Given the description of an element on the screen output the (x, y) to click on. 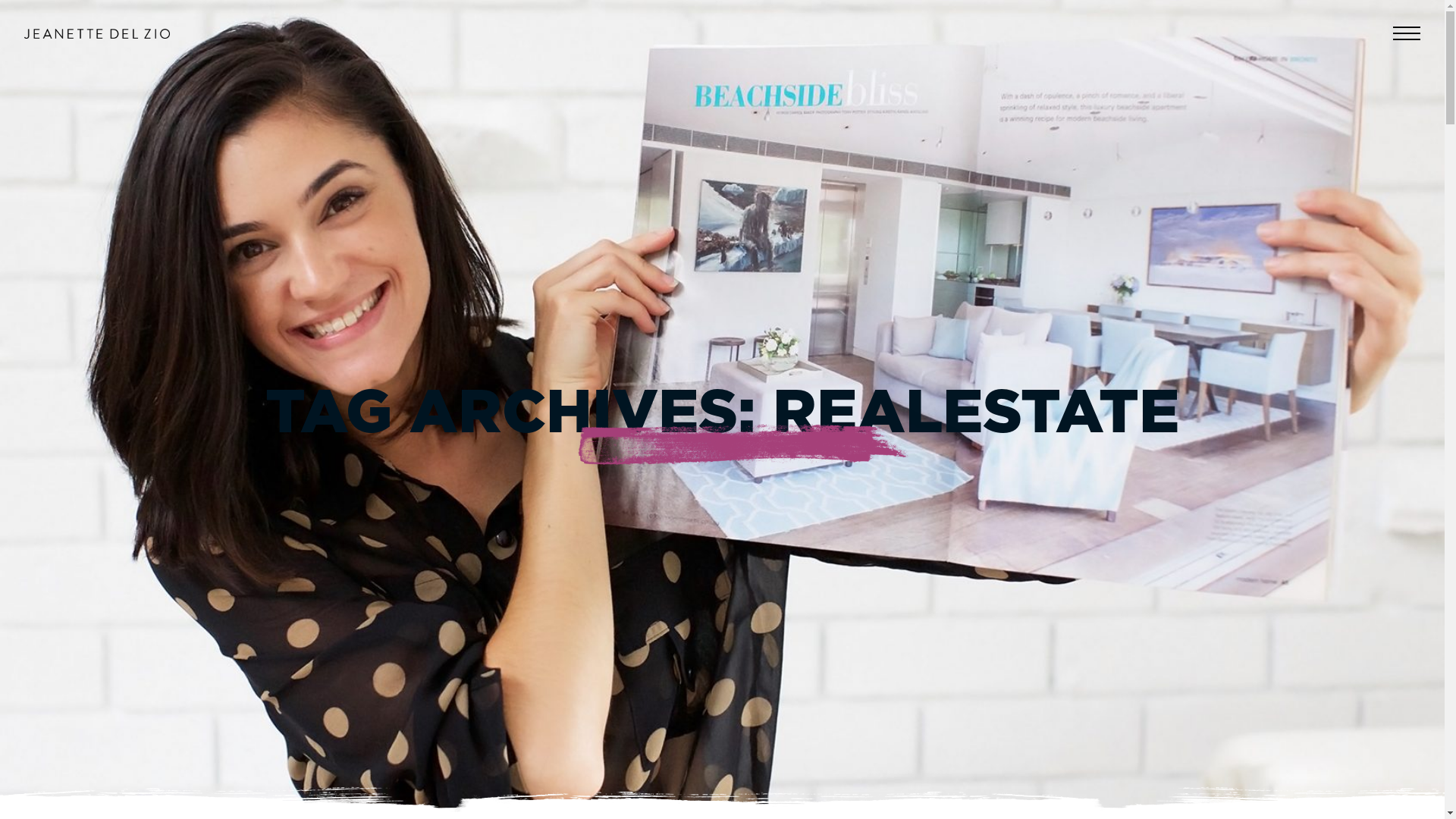
Jeanette Del Zio Element type: text (96, 33)
